Given the description of an element on the screen output the (x, y) to click on. 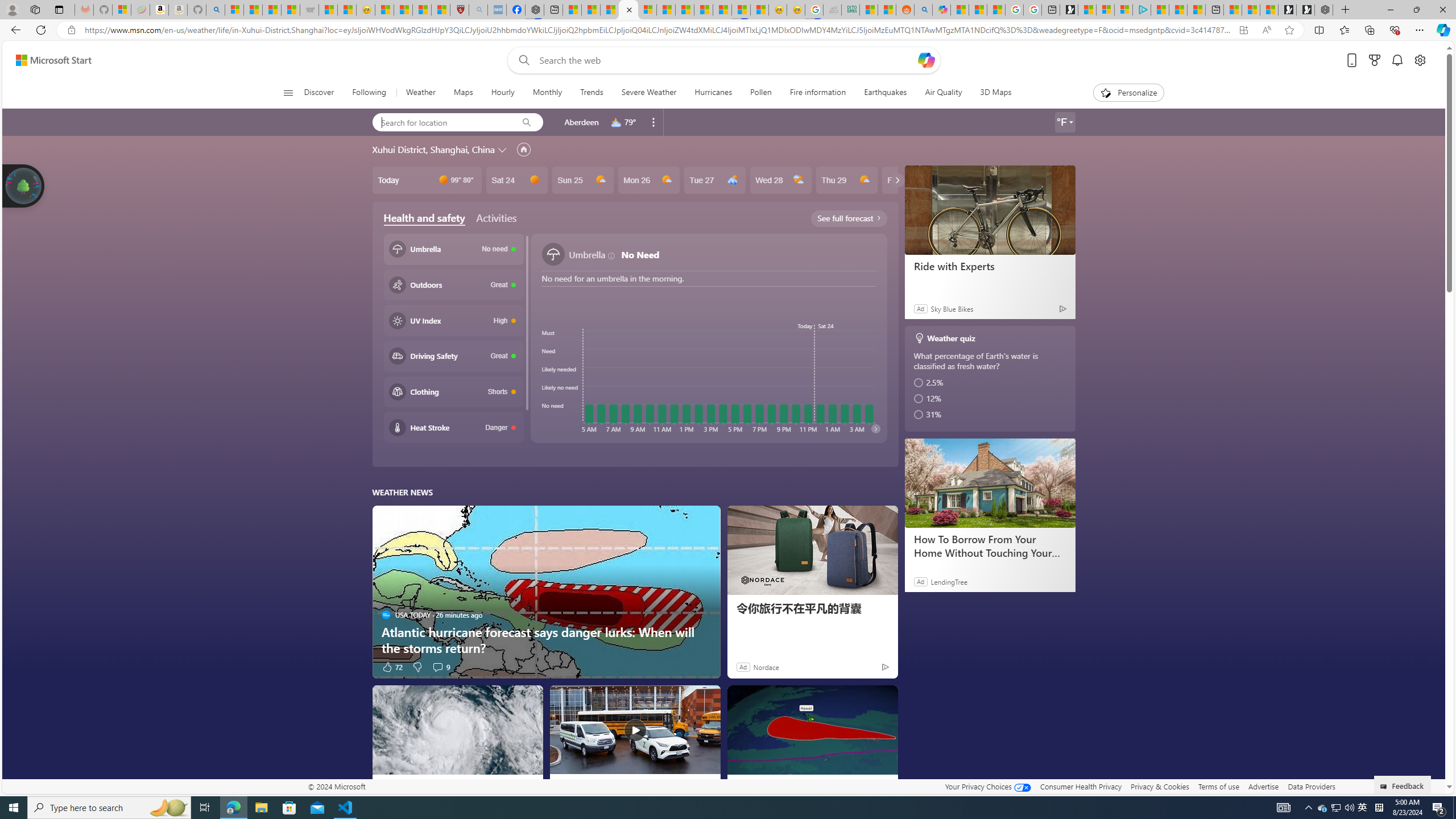
View comments 9 Comment (440, 666)
next (875, 428)
Fri 30 (911, 180)
Sat 24 (516, 180)
